Given the description of an element on the screen output the (x, y) to click on. 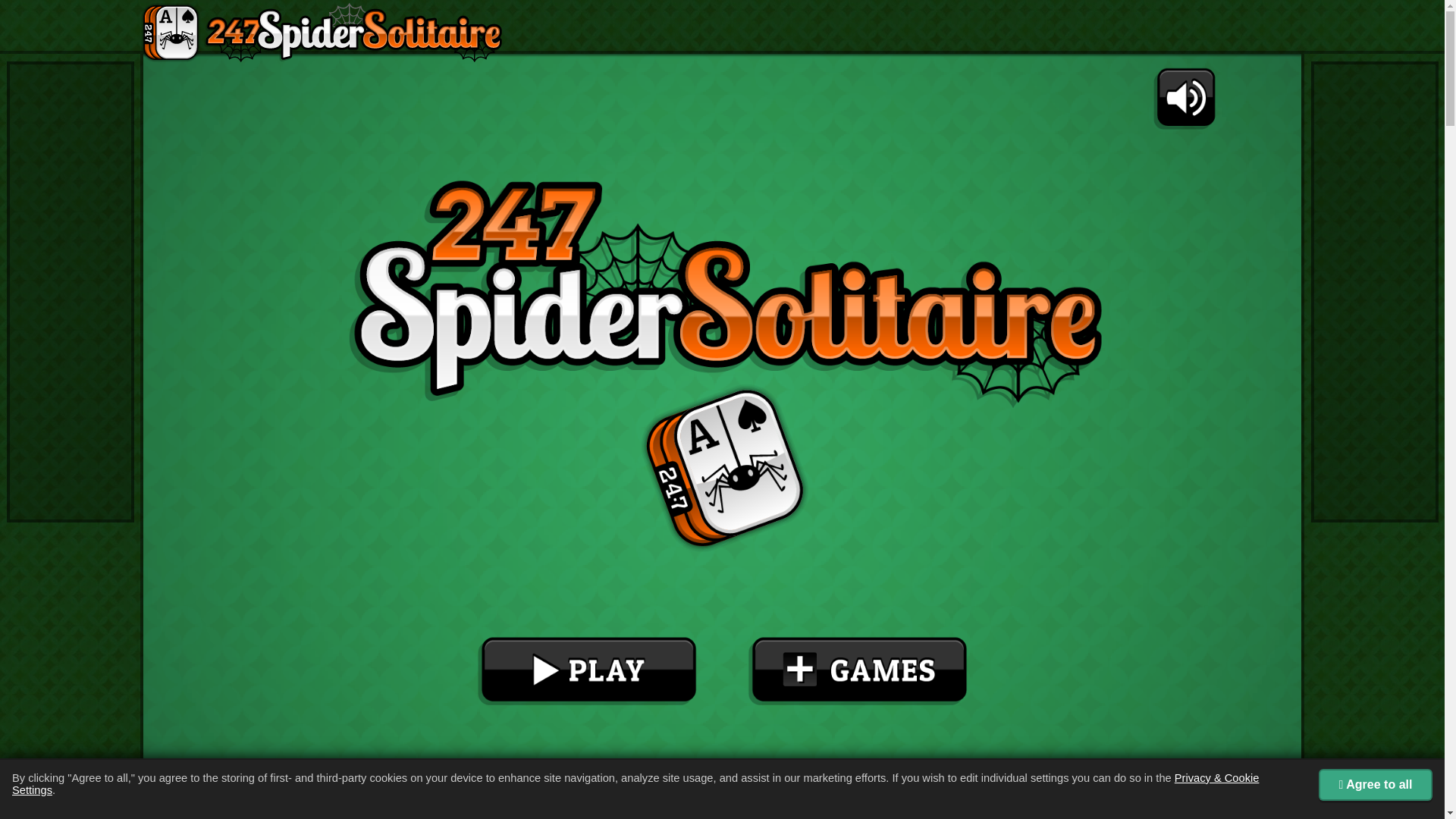
game Element type: hover (722, 430)
Privacy & Cookie Settings Element type: text (635, 783)
